Given the description of an element on the screen output the (x, y) to click on. 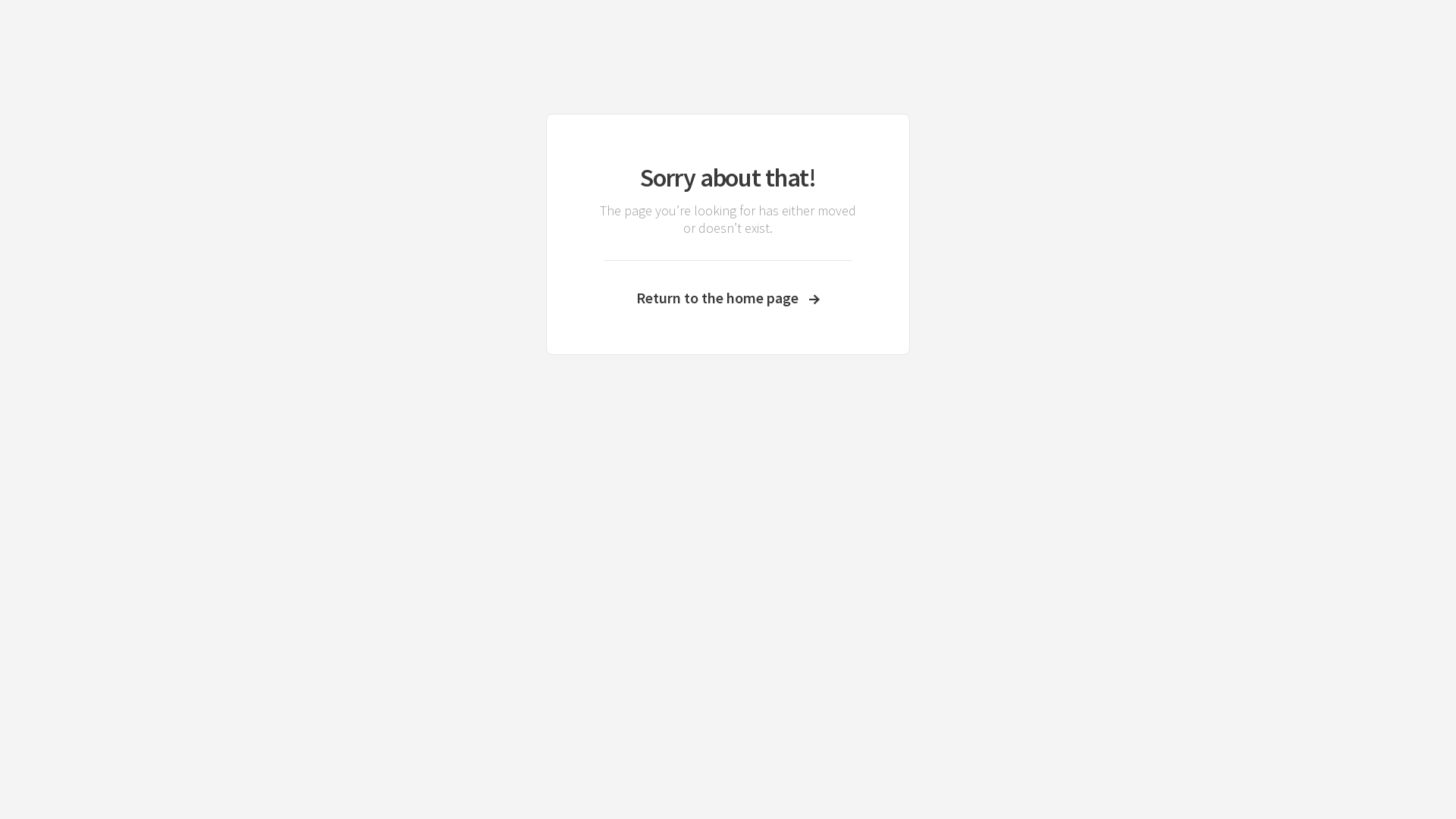
Return to the home page Element type: text (727, 297)
